Given the description of an element on the screen output the (x, y) to click on. 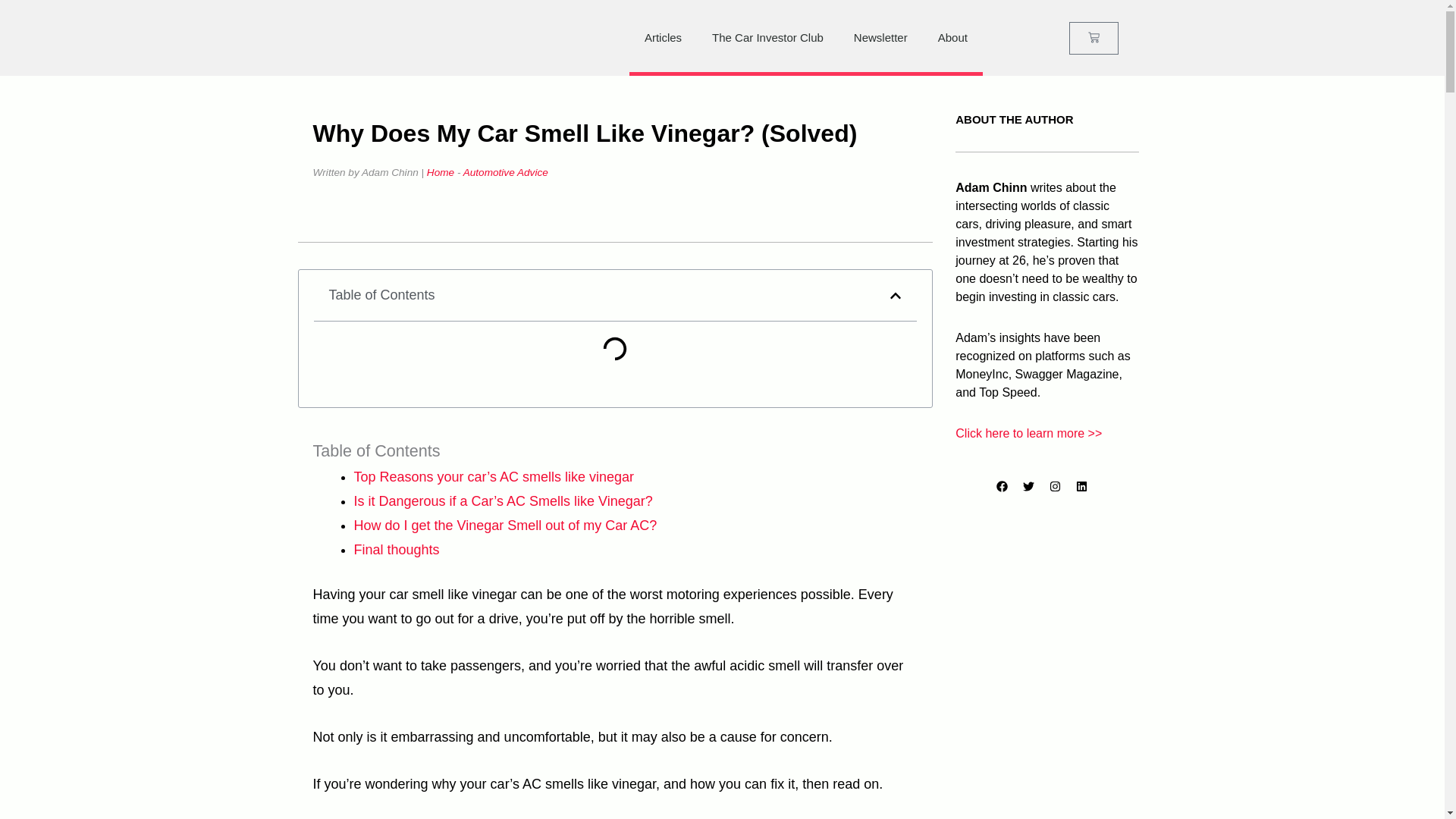
Linkedin (1087, 491)
Automotive Advice (505, 172)
Basket (1093, 37)
Twitter (1034, 491)
Newsletter (880, 38)
The Car Investor Club (767, 38)
Facebook (1007, 491)
Instagram (1060, 491)
How do I get the Vinegar Smell out of my Car AC? (504, 525)
Articles (662, 38)
Final thoughts (396, 549)
Home (440, 172)
